Given the description of an element on the screen output the (x, y) to click on. 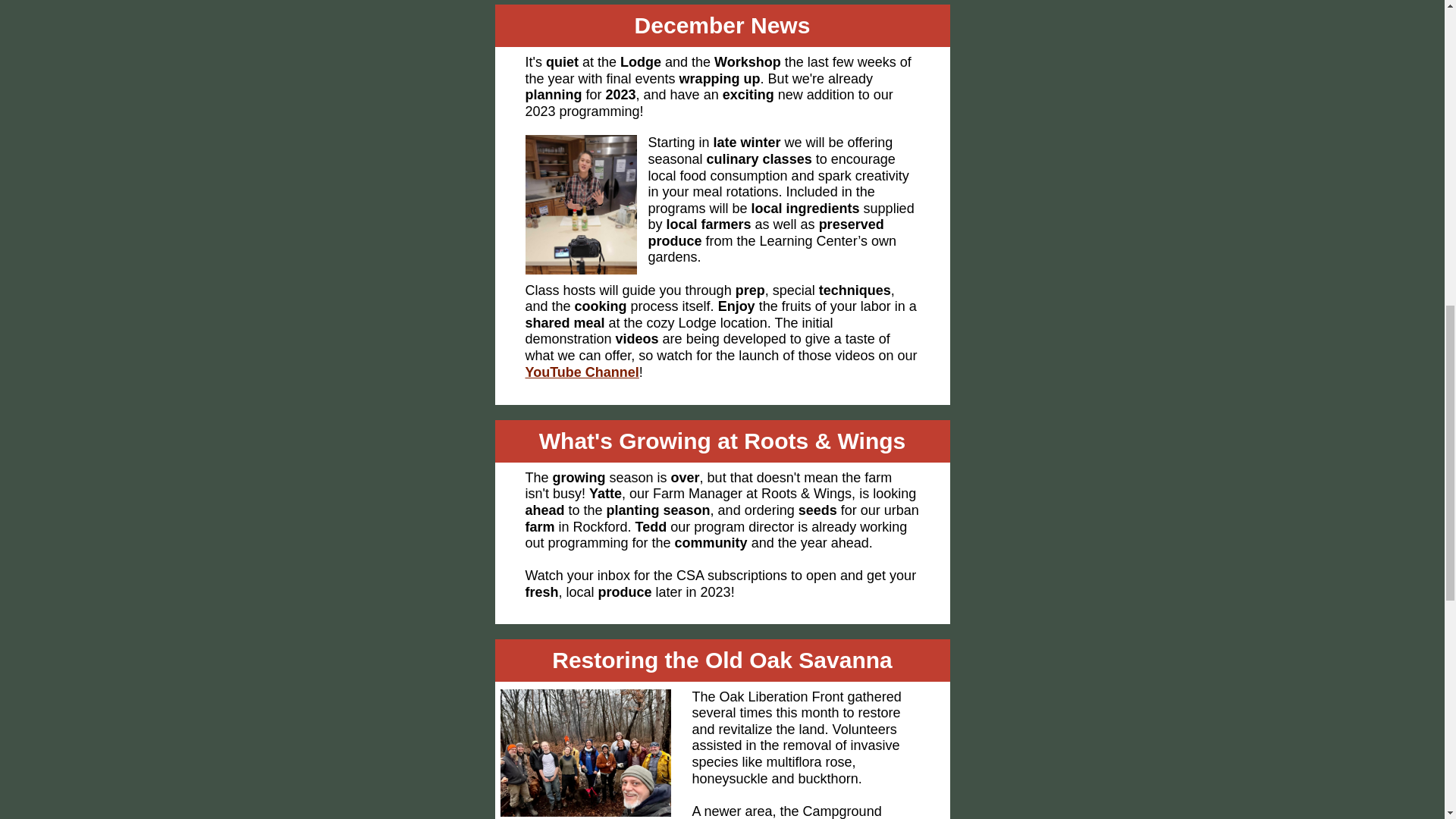
YouTube Channel (581, 372)
